Given the description of an element on the screen output the (x, y) to click on. 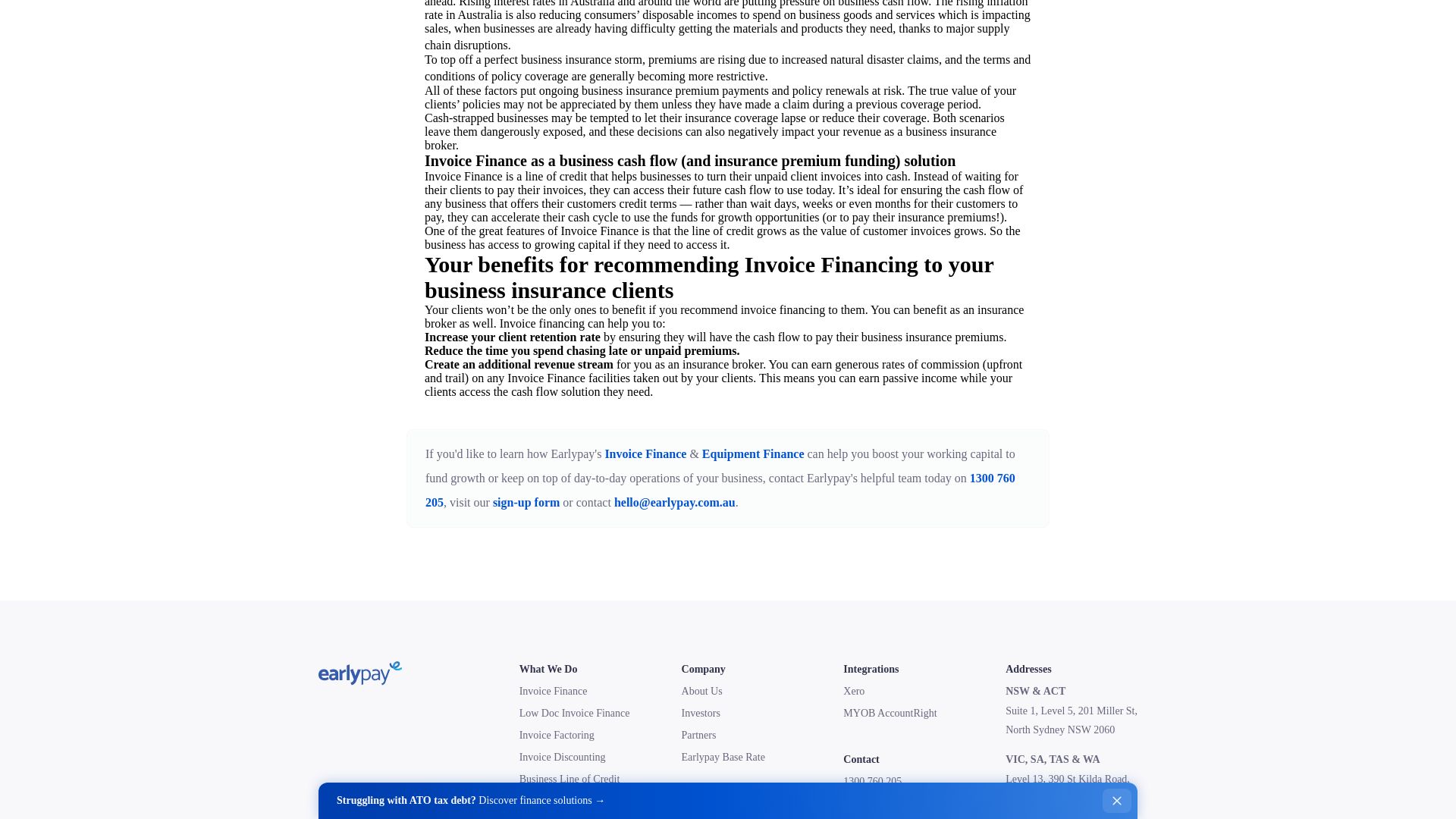
1300 760 205 (872, 781)
Xero (853, 690)
Invoice Finance (599, 230)
Earlypay Base Rate (723, 756)
Invoice Finance (644, 453)
Invoice Finance (553, 690)
1300 760 205 (719, 489)
Equipment Finance (560, 800)
Investors (700, 713)
sign-up form (526, 502)
Invoice Factoring (556, 735)
MYOB AccountRight (889, 713)
Low Doc Invoice Finance (574, 713)
Partners (698, 735)
Business Line of Credit (569, 778)
